Given the description of an element on the screen output the (x, y) to click on. 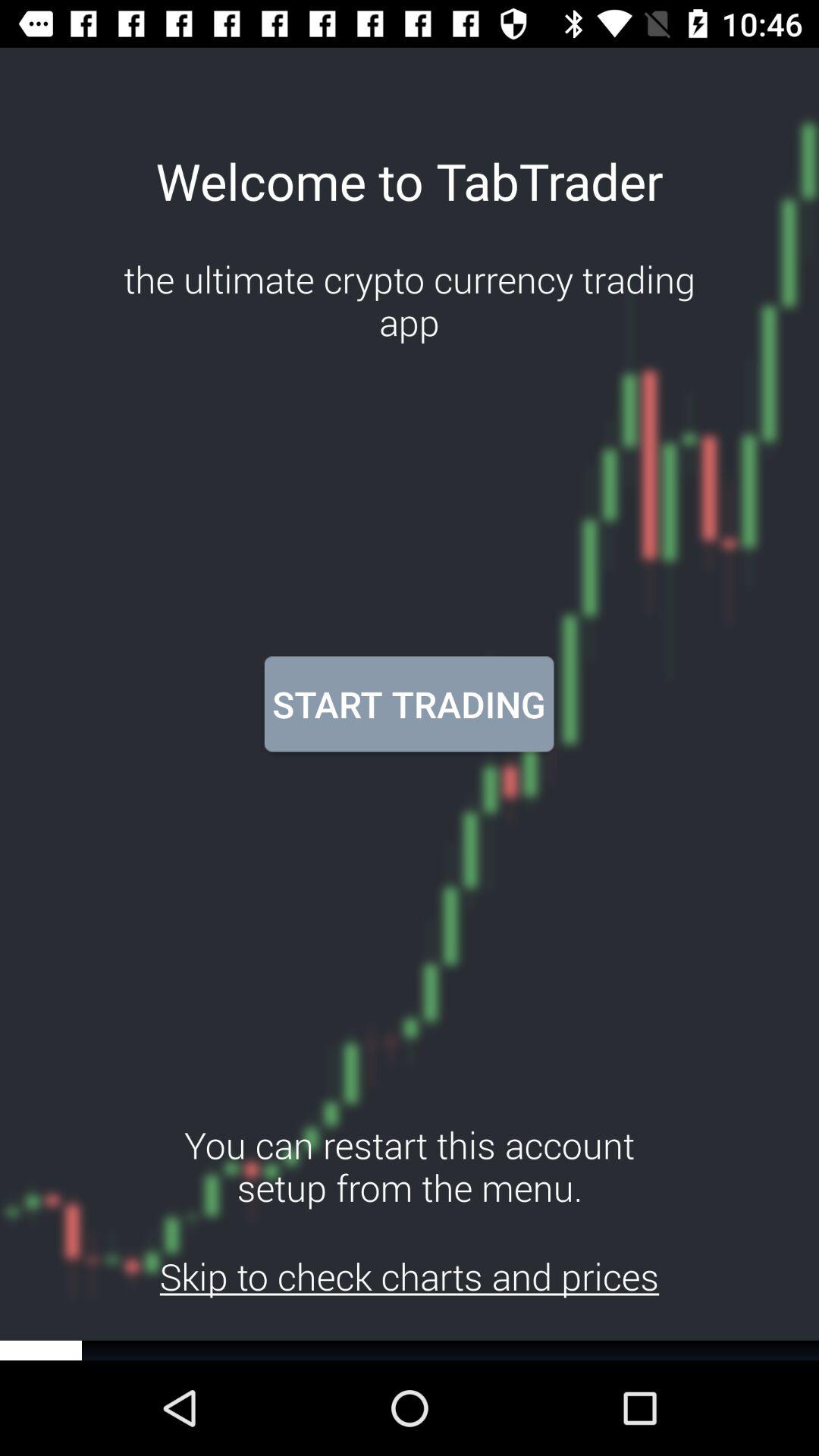
tap the item below you can restart item (409, 1275)
